Given the description of an element on the screen output the (x, y) to click on. 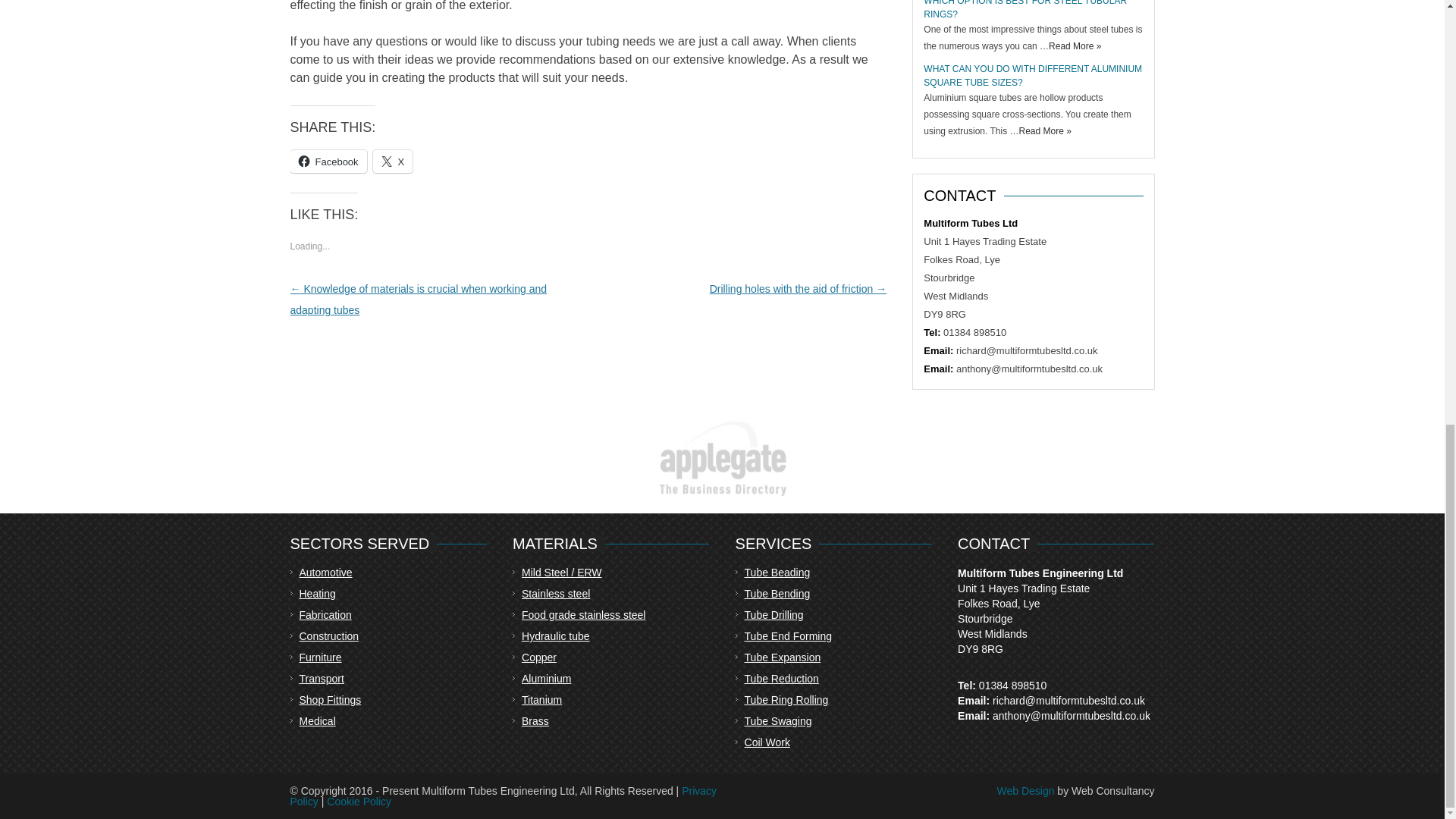
Click to share on X (392, 160)
Web Design (1024, 790)
Permalink to Which option is best for steel tubular rings? (1024, 9)
Facebook (327, 160)
Click to share on Facebook (327, 160)
X (392, 160)
Privacy Policy (502, 795)
Cookie Policy (358, 801)
